Given the description of an element on the screen output the (x, y) to click on. 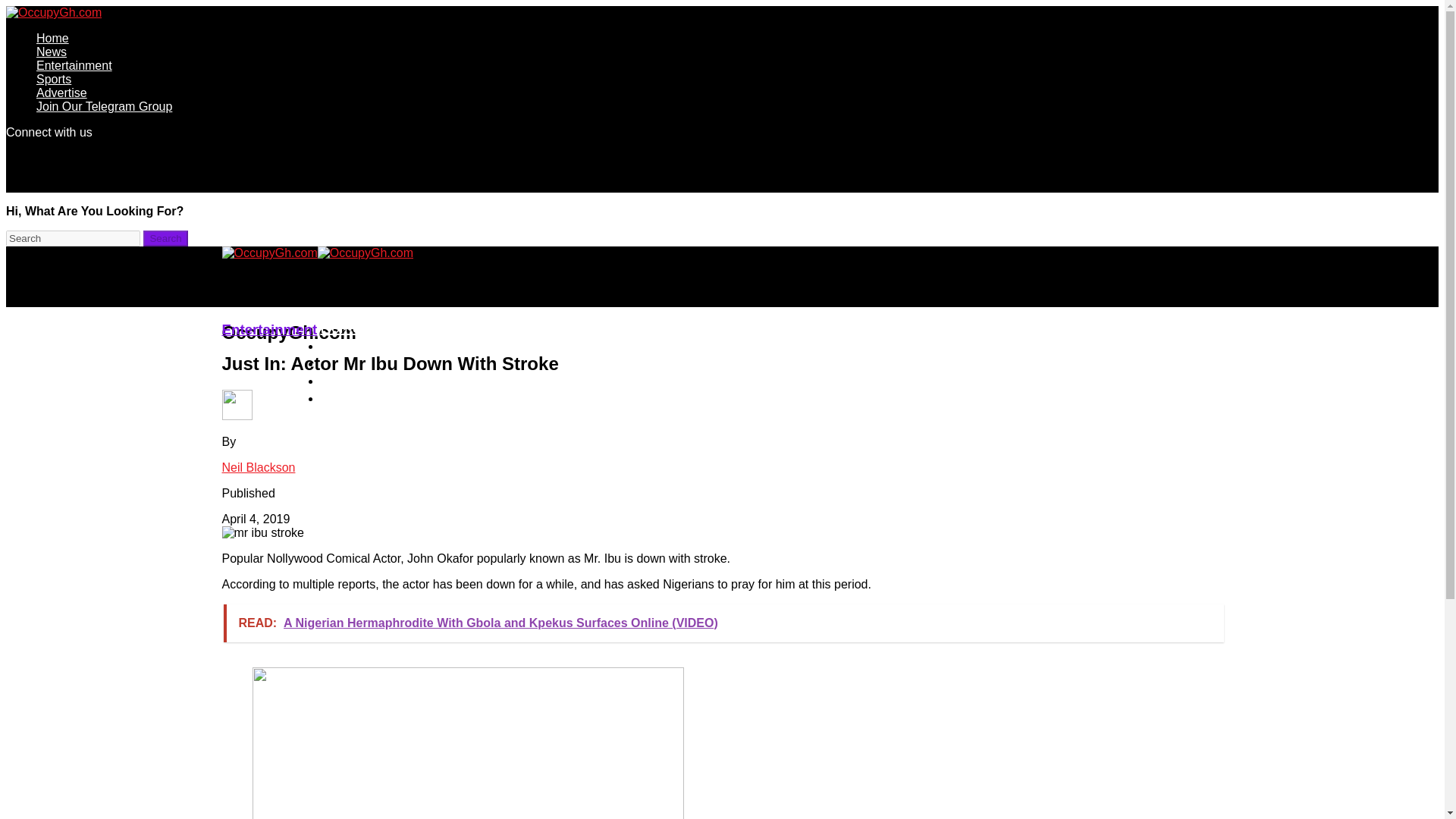
Search (72, 238)
Entertainment (74, 65)
Entertainment (269, 329)
Neil Blackson (258, 467)
Join Our Telegram Group (103, 106)
Home (52, 38)
Advertise (351, 397)
Entertainment (367, 362)
Search (164, 238)
Advertise (61, 92)
